Given the description of an element on the screen output the (x, y) to click on. 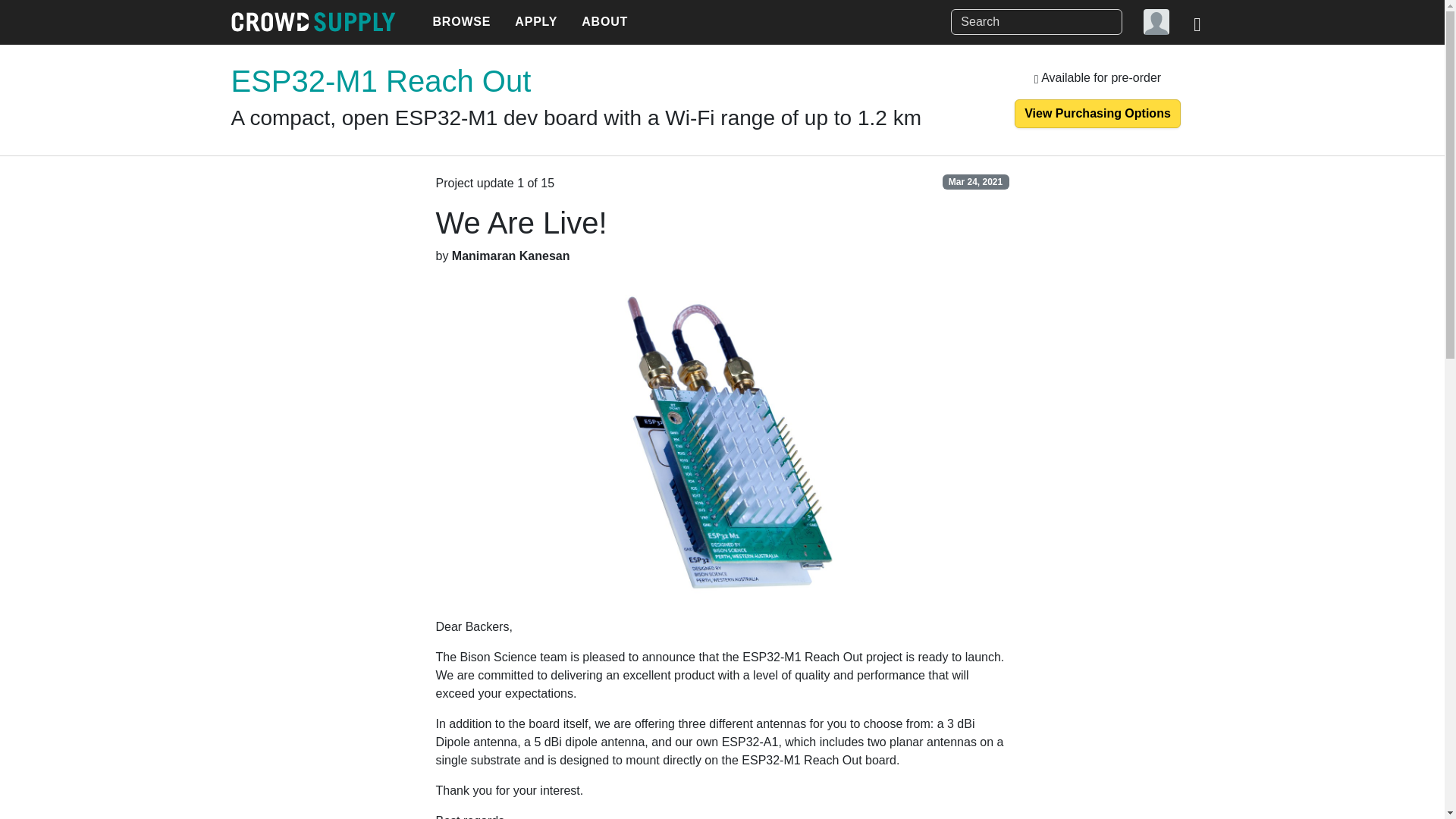
BROWSE (461, 21)
Crowd Supply (312, 22)
ABOUT (604, 21)
APPLY (535, 21)
View Purchasing Options (1097, 113)
ESP32-M1 Reach Out (380, 80)
